Given the description of an element on the screen output the (x, y) to click on. 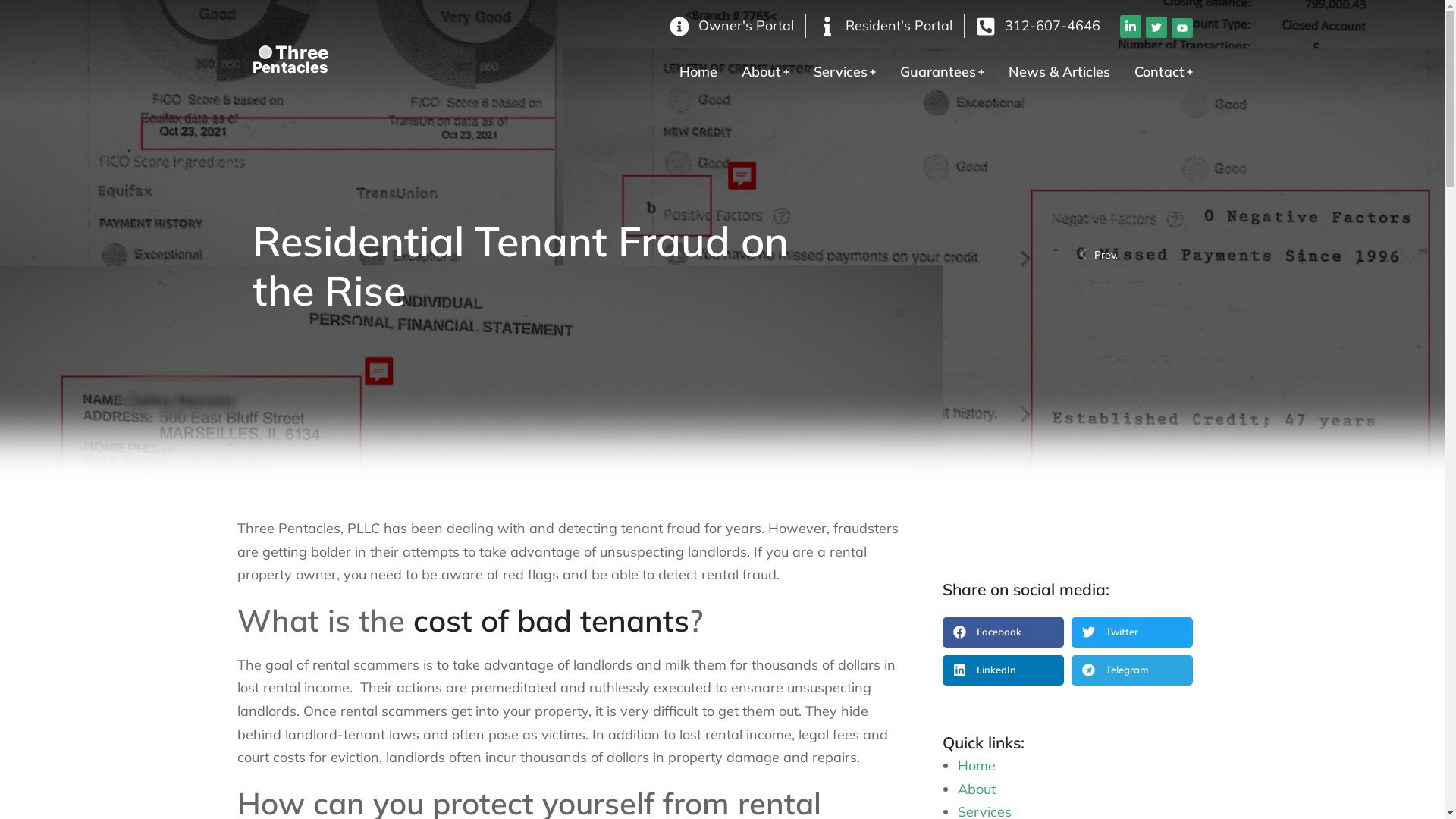
News & Articles Element type: text (1059, 71)
Home Element type: text (975, 765)
Owner's Portal Element type: text (731, 25)
Prev. Element type: text (1106, 254)
cost of bad tenants Element type: text (550, 620)
About Element type: text (975, 788)
Home Element type: text (698, 71)
About Element type: text (765, 71)
Guarantees Element type: text (941, 71)
Contact Element type: text (1163, 71)
Resident's Portal Element type: text (885, 25)
312-607-4646 Element type: text (1037, 25)
Services Element type: text (843, 71)
